Given the description of an element on the screen output the (x, y) to click on. 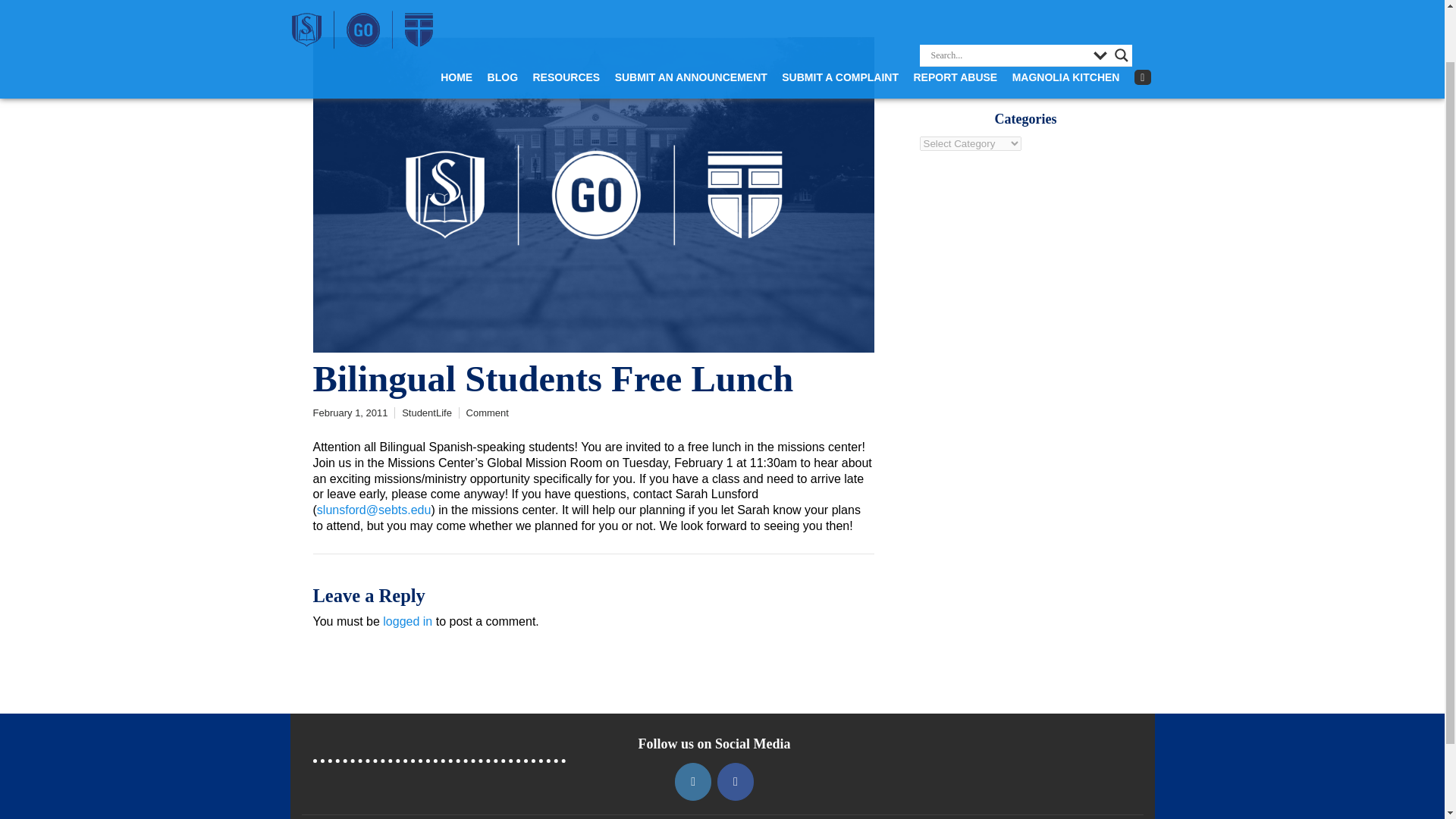
Posts by StudentLife (426, 412)
SUBMIT AN ANNOUNCEMENT (690, 16)
RESOURCES (565, 16)
BLOG (502, 16)
Around Southeastern on Instagram (693, 781)
Around Southeastern on Facebook (735, 781)
HOME (456, 16)
